Given the description of an element on the screen output the (x, y) to click on. 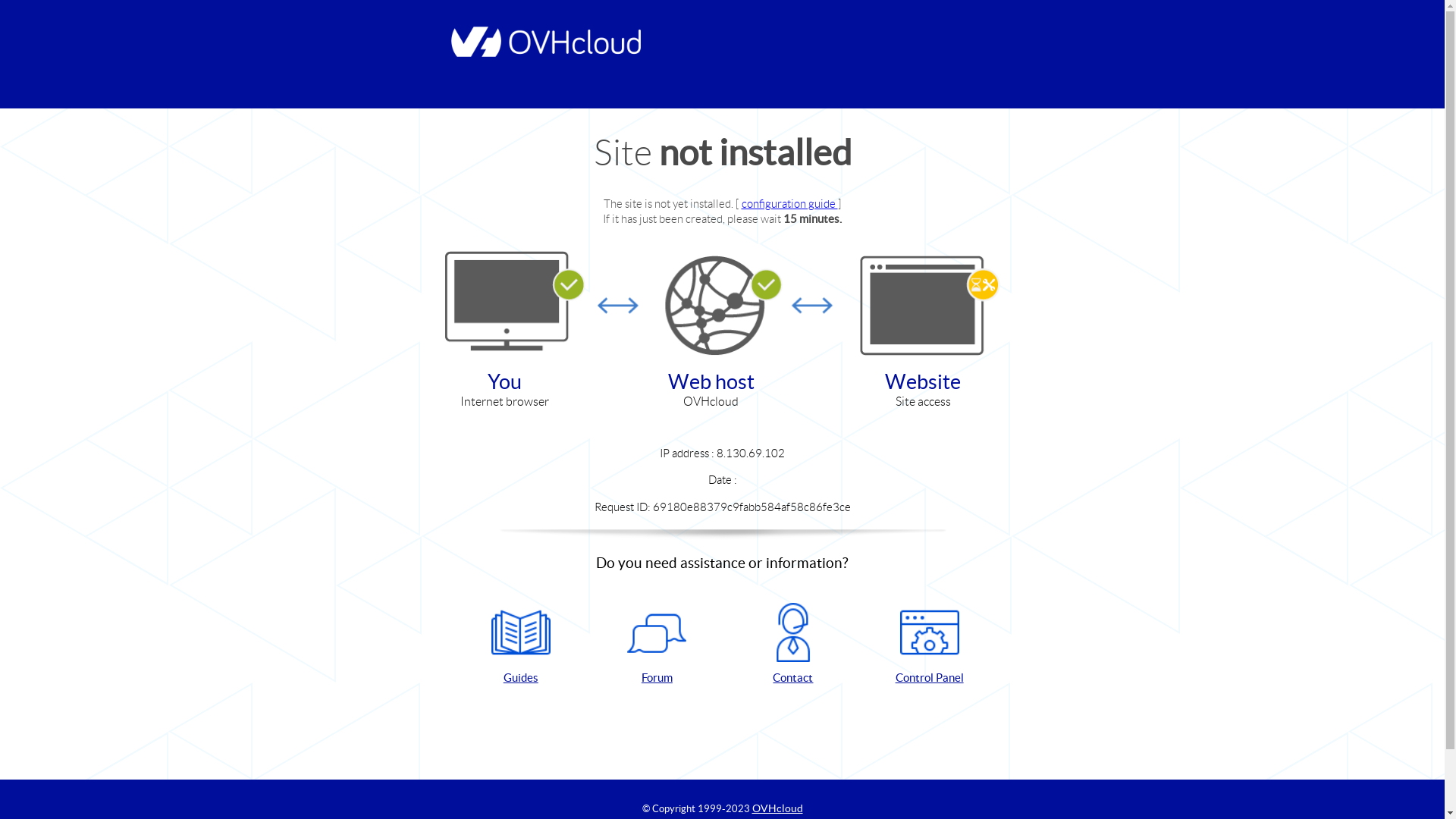
OVHcloud Element type: text (777, 808)
Forum Element type: text (656, 644)
configuration guide Element type: text (789, 203)
Control Panel Element type: text (929, 644)
Guides Element type: text (520, 644)
Contact Element type: text (792, 644)
